Given the description of an element on the screen output the (x, y) to click on. 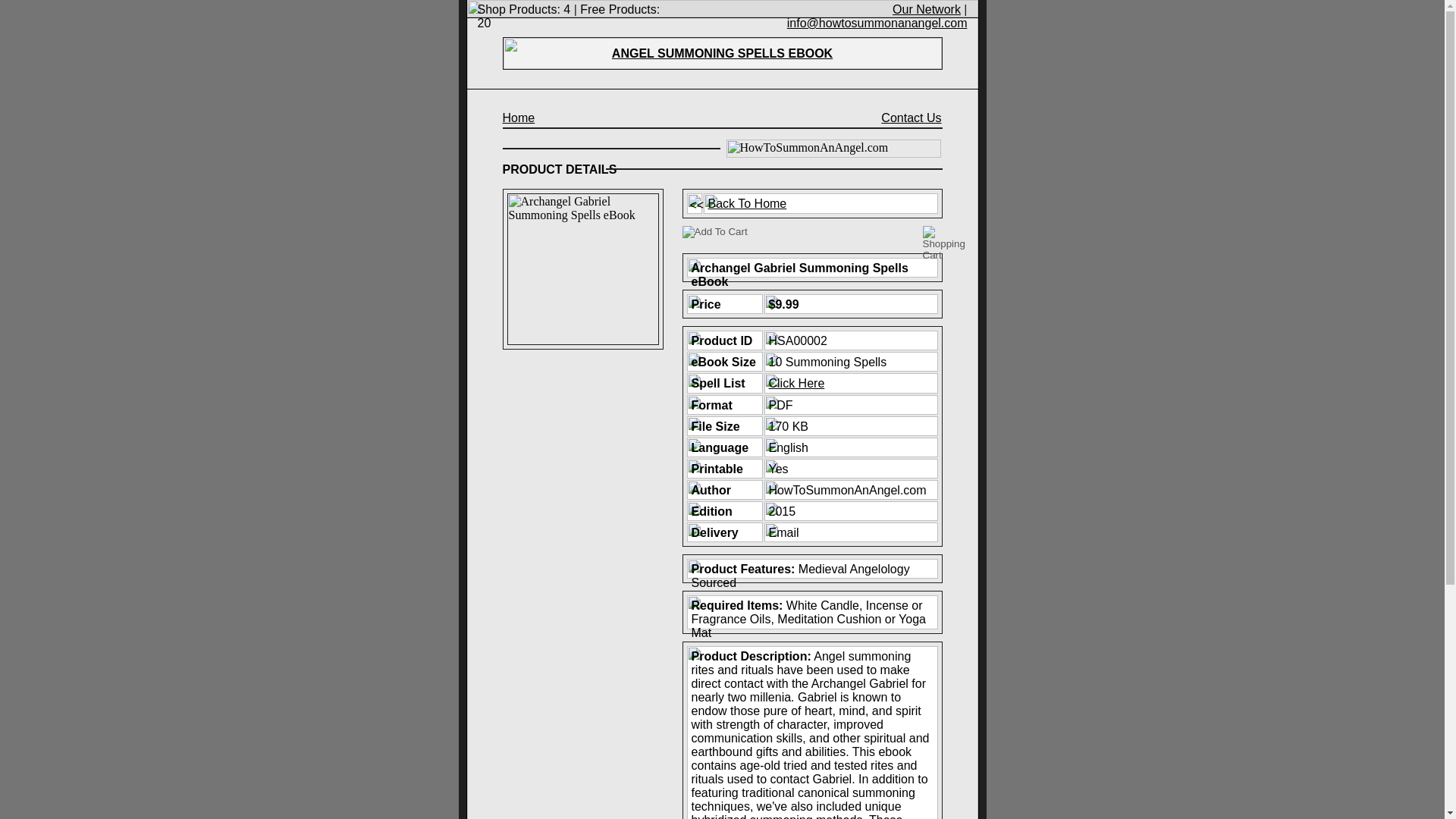
Home (518, 117)
ANGEL SUMMONING SPELLS EBOOK (721, 52)
Our Network (926, 9)
Contact Us (910, 117)
Click Here (796, 382)
Back To Home (747, 203)
